Given the description of an element on the screen output the (x, y) to click on. 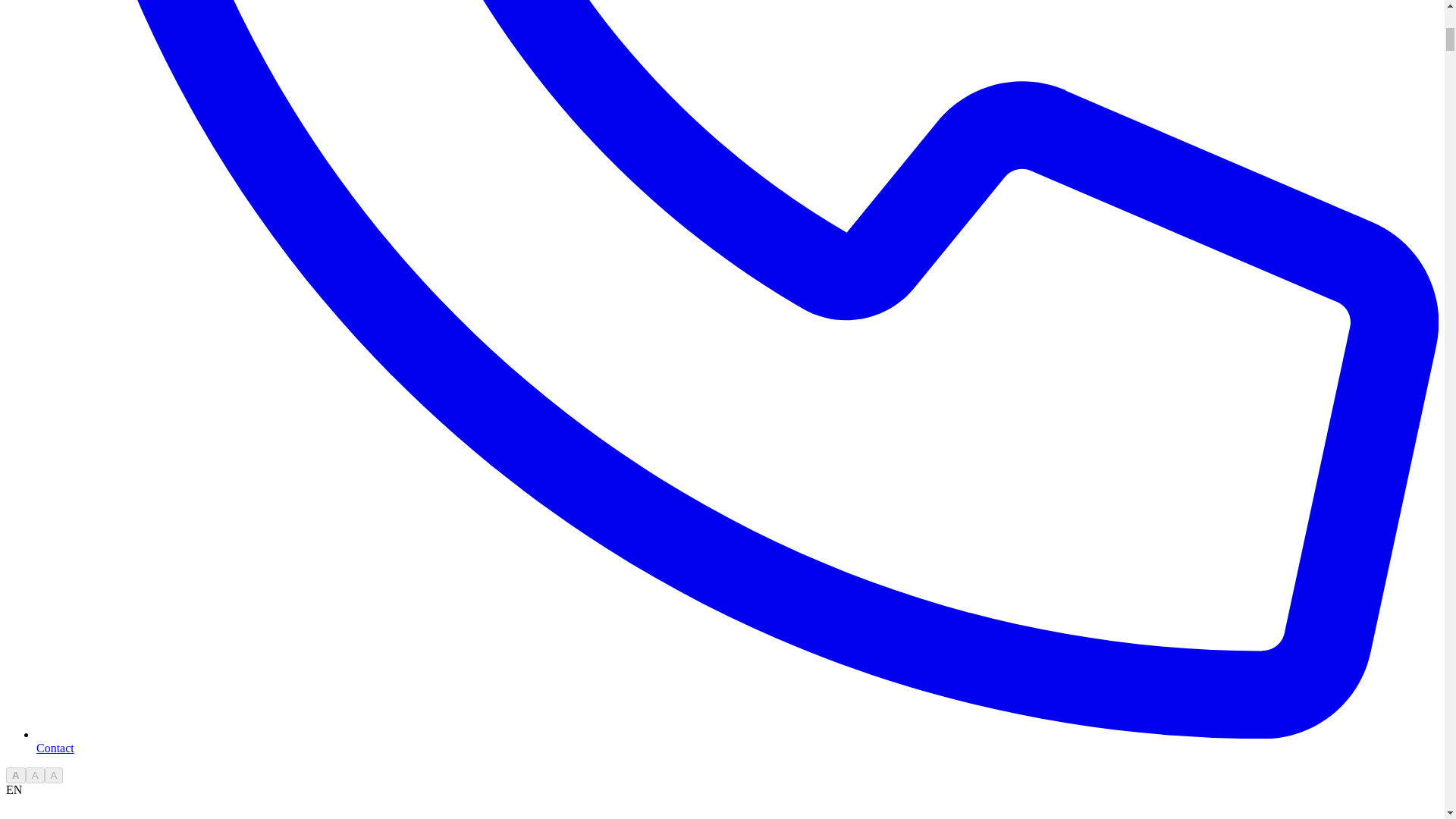
A (35, 774)
A (15, 774)
A (54, 774)
